Given the description of an element on the screen output the (x, y) to click on. 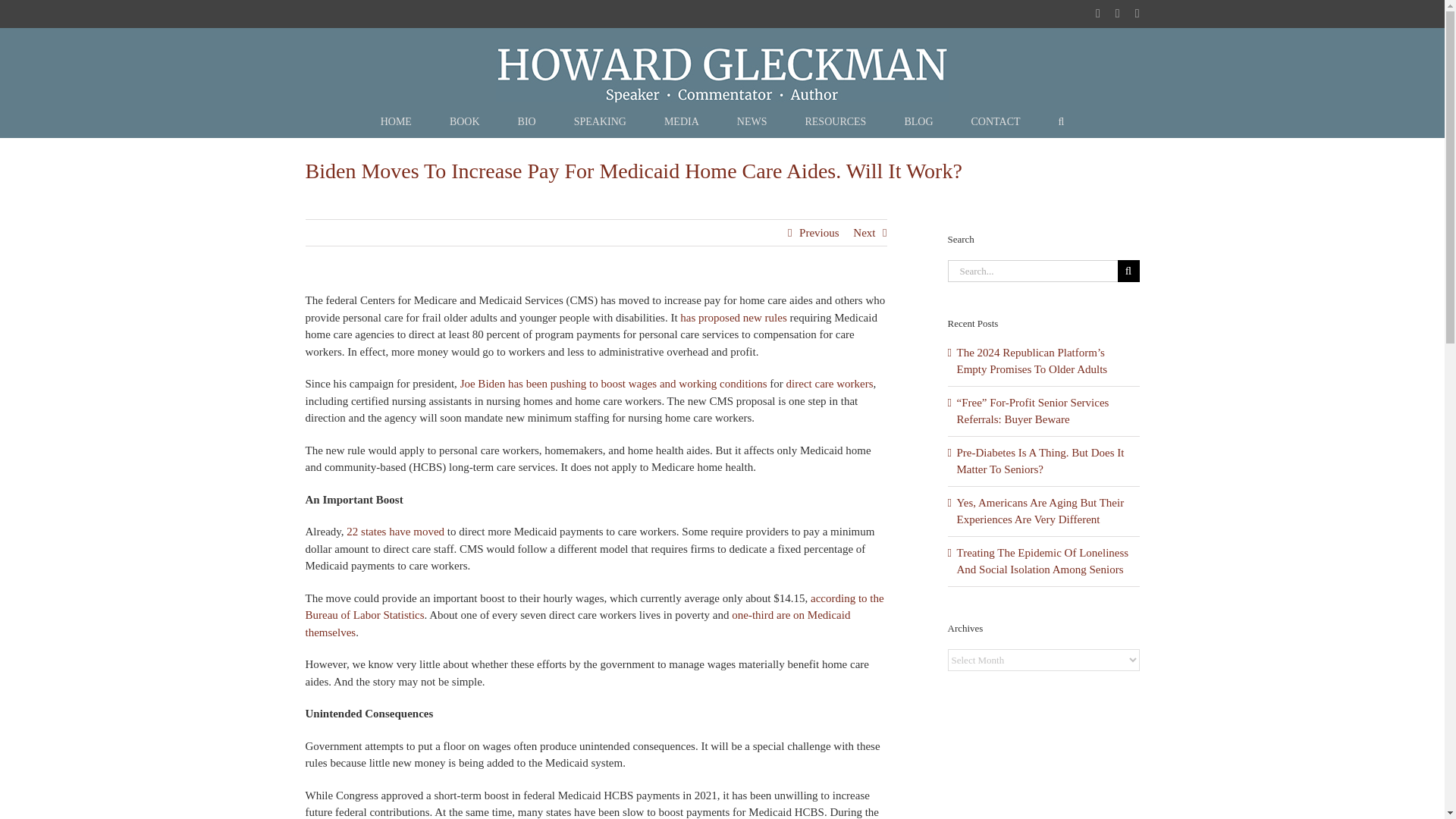
HOME (396, 122)
SPEAKING (599, 122)
CONTACT (995, 122)
Previous (819, 232)
BOOK (464, 122)
BLOG (918, 122)
RESOURCES (835, 122)
MEDIA (680, 122)
NEWS (751, 122)
